Given the description of an element on the screen output the (x, y) to click on. 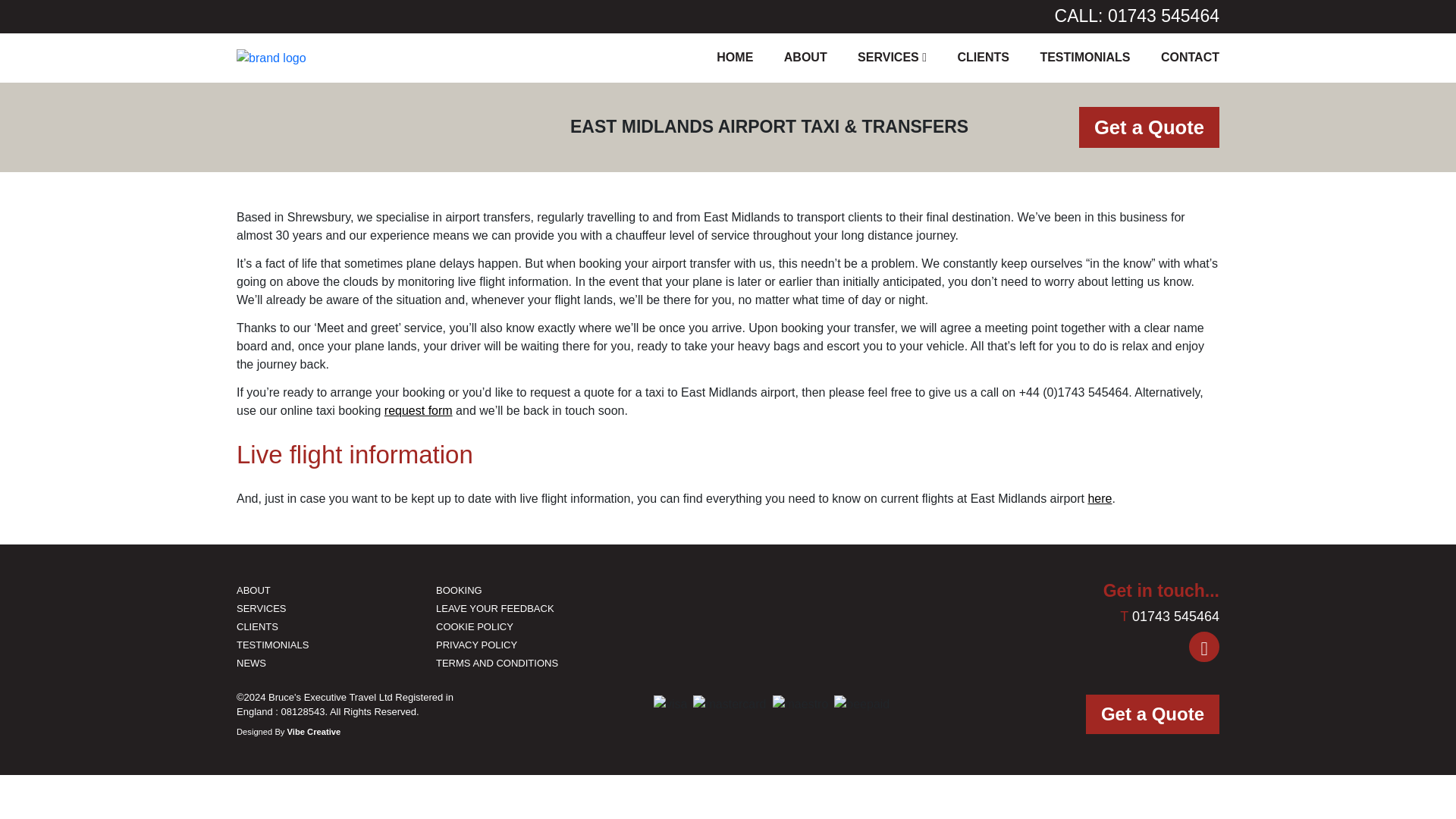
CALL: 01743 545464 (1137, 16)
CLIENTS (256, 626)
HOME (734, 57)
TESTIMONIALS (1084, 57)
here (1099, 498)
ABOUT (252, 590)
SERVICES (260, 608)
Get a Quote (1149, 127)
SERVICES (891, 57)
CONTACT (1190, 57)
